Given the description of an element on the screen output the (x, y) to click on. 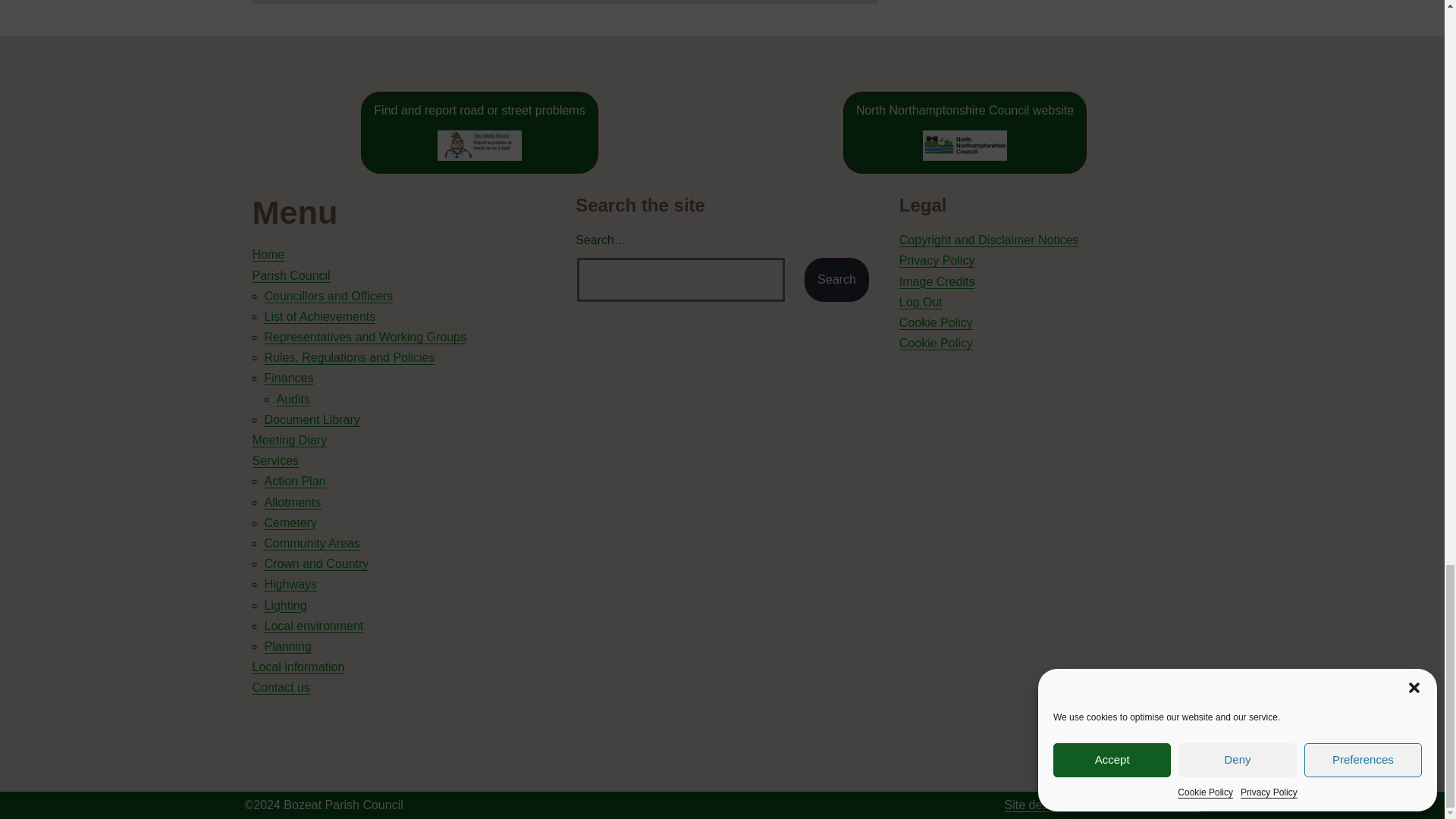
Search (837, 279)
Visit the Northamptonshire County Council website (964, 132)
Search (837, 279)
